Given the description of an element on the screen output the (x, y) to click on. 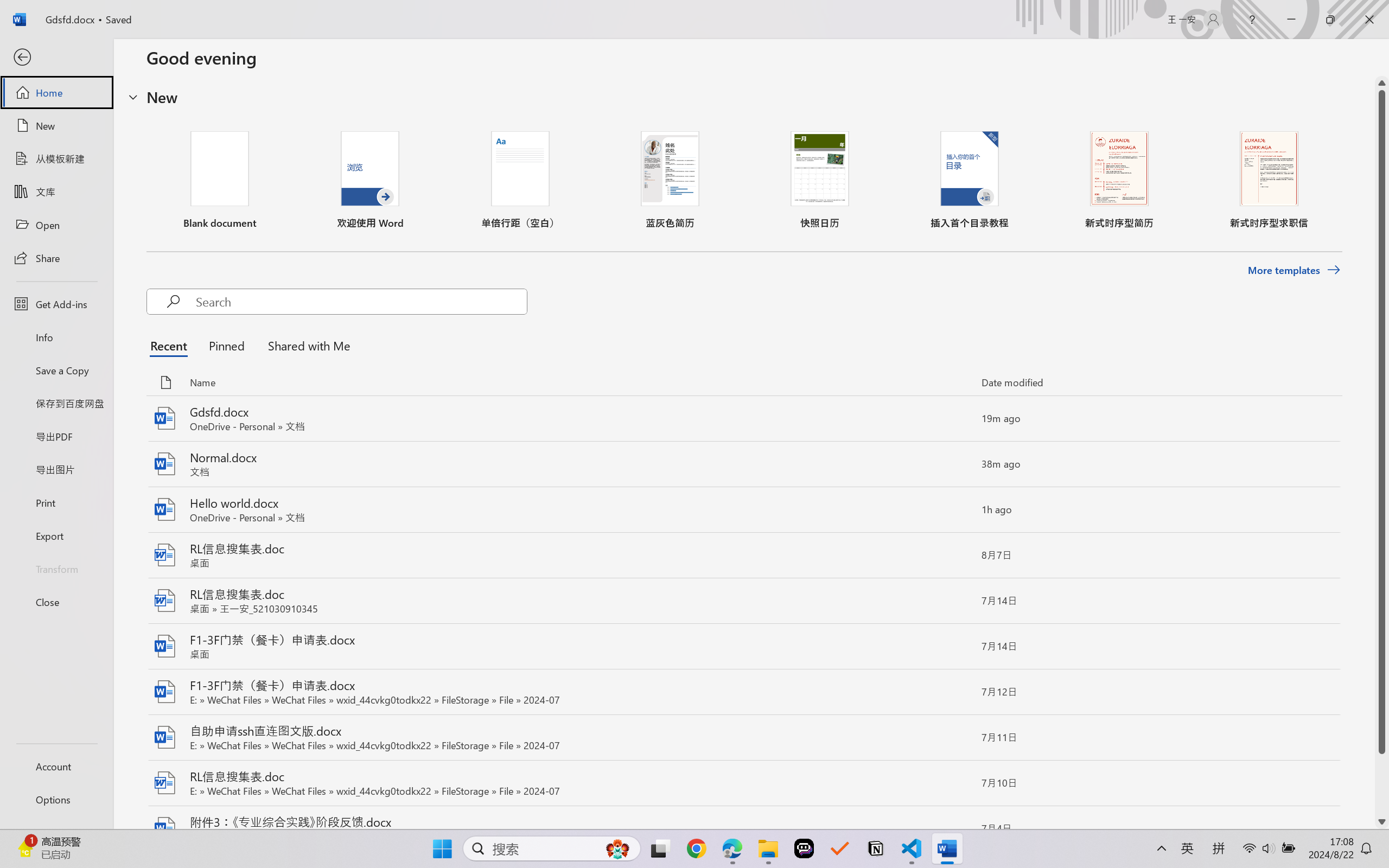
New (56, 125)
Normal.docx (743, 463)
Page down (1382, 784)
Save a Copy (56, 370)
Export (56, 535)
Pinned (226, 345)
